Given the description of an element on the screen output the (x, y) to click on. 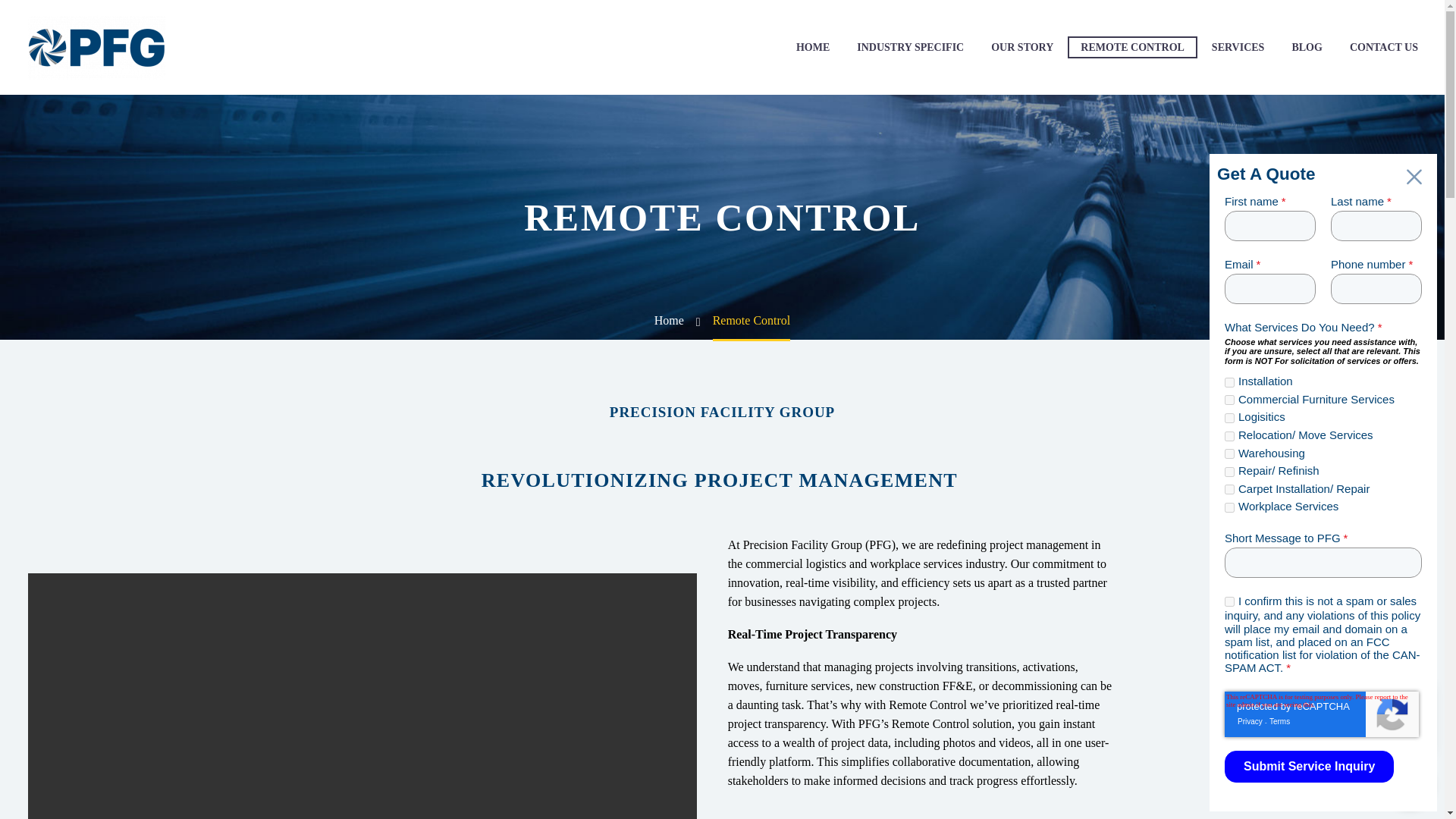
BLOG (1306, 46)
CONTACT US (1383, 46)
OUR STORY (1021, 46)
Home (668, 319)
INDUSTRY SPECIFIC (910, 46)
REMOTE CONTROL (1131, 47)
HOME (812, 46)
SERVICES (1237, 46)
